Given the description of an element on the screen output the (x, y) to click on. 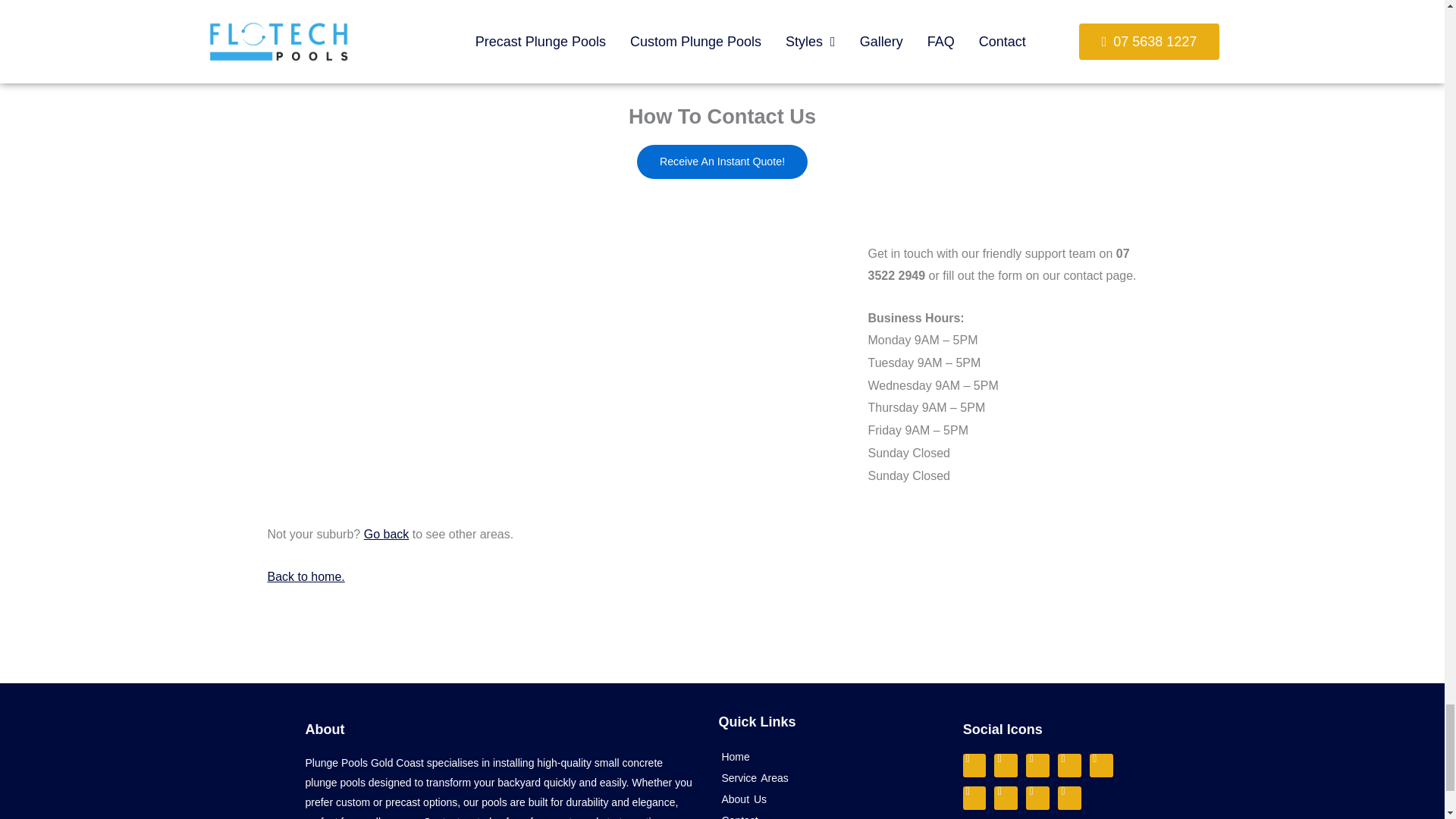
Google map of Robina (575, 356)
